Given the description of an element on the screen output the (x, y) to click on. 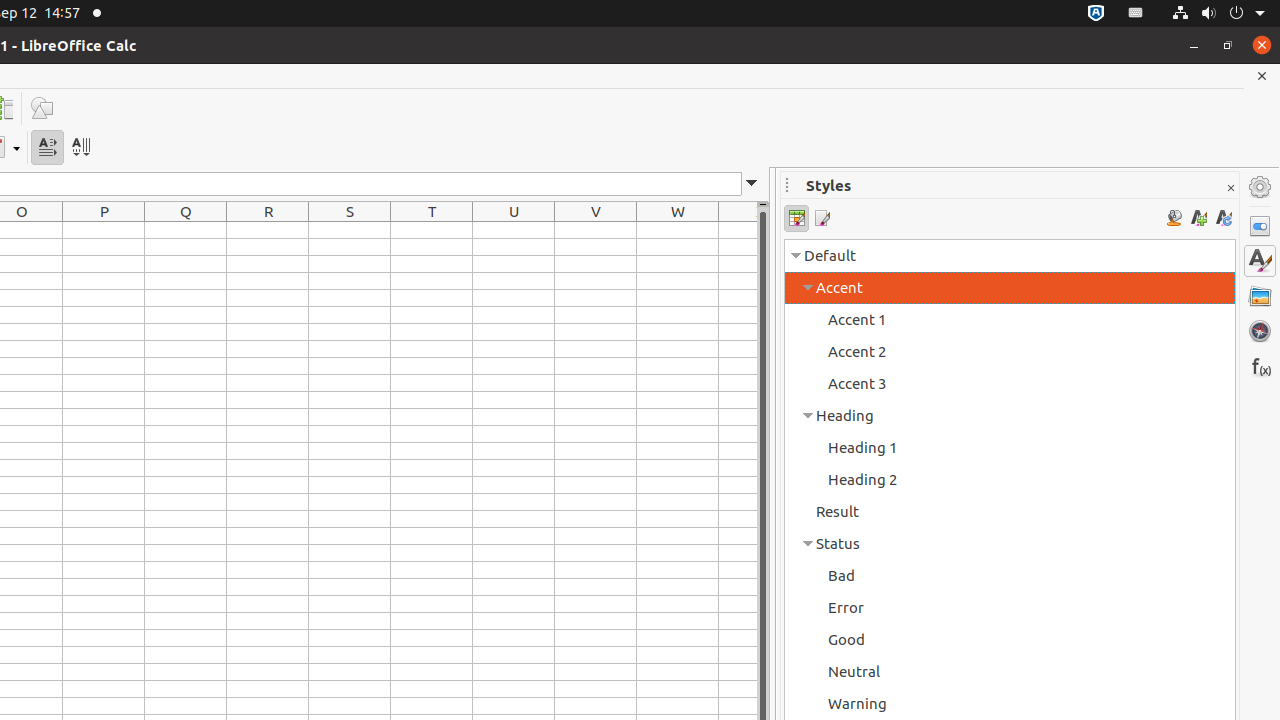
:1.72/StatusNotifierItem Element type: menu (1096, 13)
Styles Element type: radio-button (1260, 261)
V1 Element type: table-cell (596, 230)
P1 Element type: table-cell (104, 230)
Page Styles Element type: push-button (821, 218)
